Given the description of an element on the screen output the (x, y) to click on. 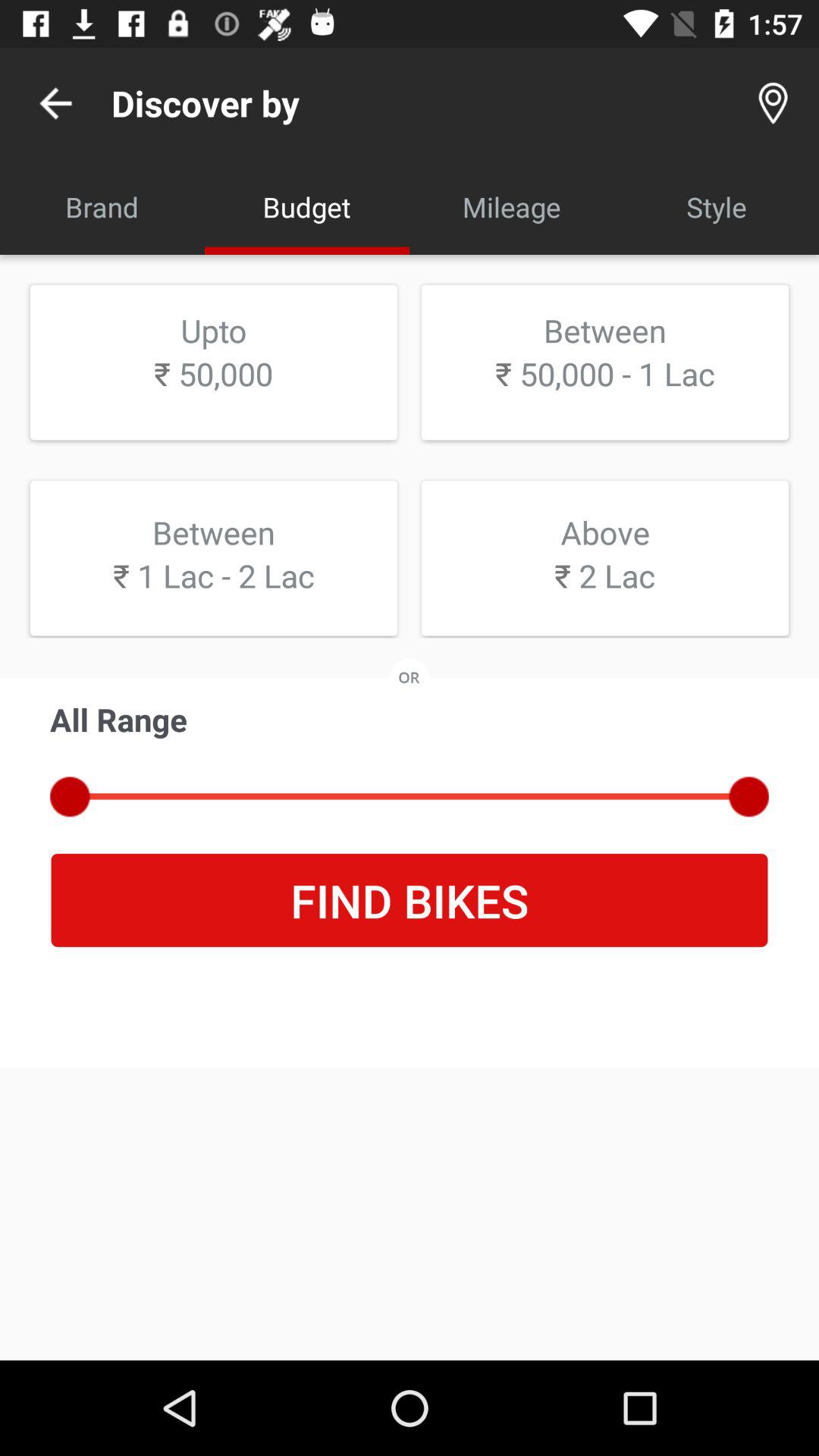
turn on item above brand item (55, 103)
